Given the description of an element on the screen output the (x, y) to click on. 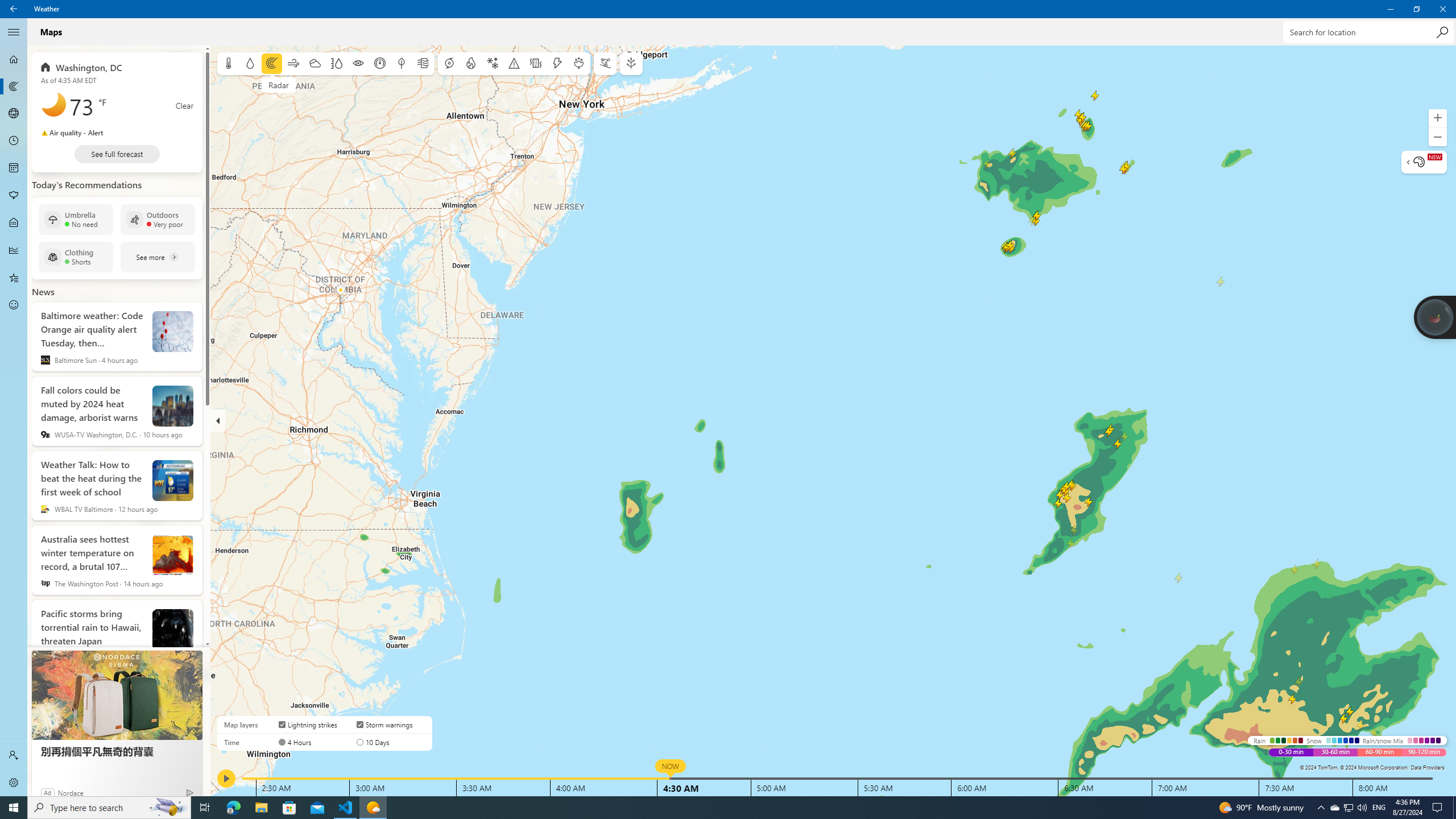
Microsoft Edge (233, 807)
Collapse Navigation (13, 31)
Minimize Weather (1390, 9)
Pollen - Not Selected (13, 195)
Task View (204, 807)
Back (13, 9)
Settings (13, 782)
Historical Weather - Not Selected (13, 249)
File Explorer (261, 807)
Type here to search (108, 807)
Running applications (1347, 807)
Search for location (706, 807)
